Given the description of an element on the screen output the (x, y) to click on. 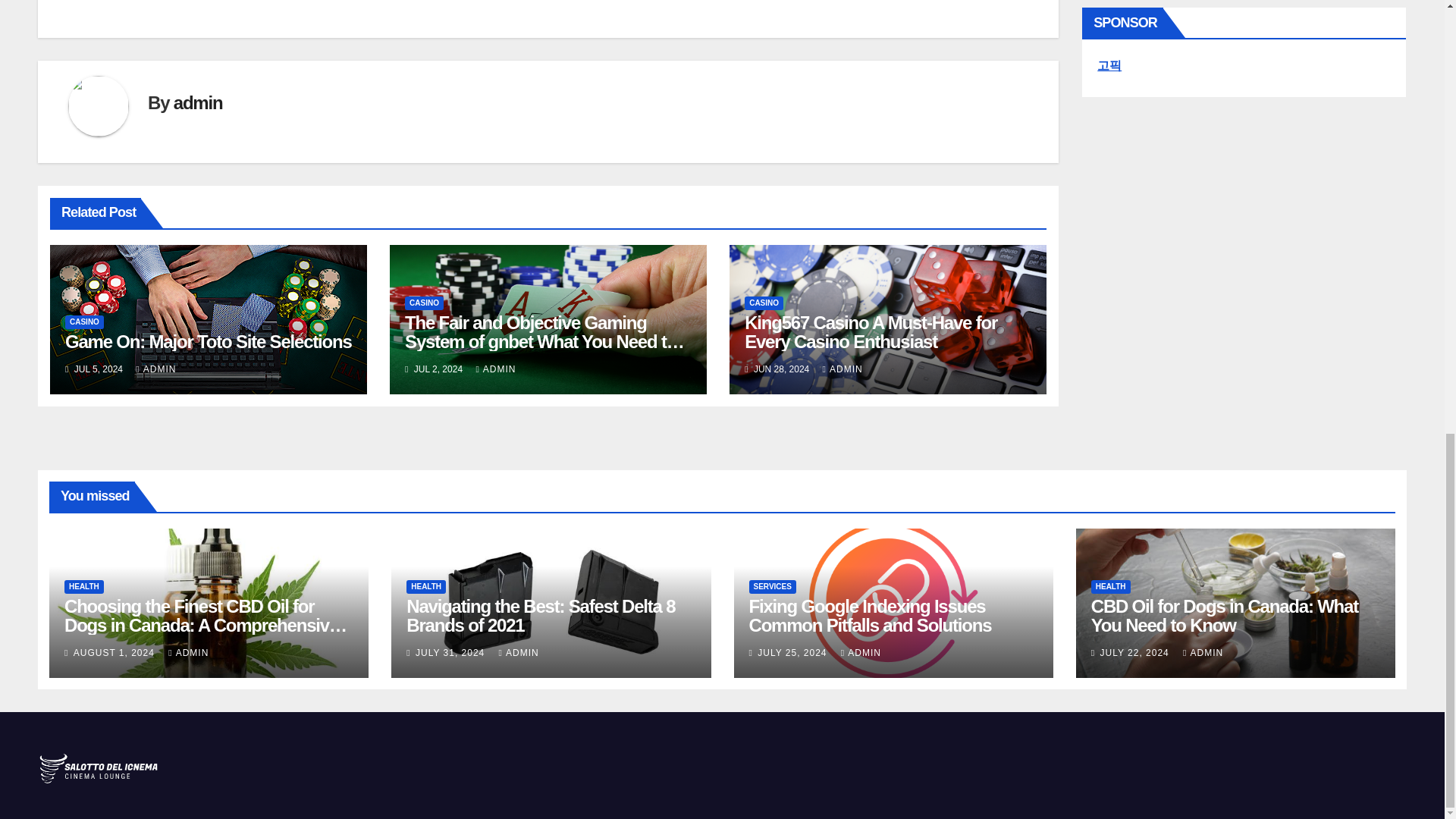
CASINO (424, 303)
CASINO (84, 322)
Game On: Major Toto Site Selections (208, 341)
admin (197, 102)
ADMIN (155, 368)
Permalink to: Game On: Major Toto Site Selections (208, 341)
